Given the description of an element on the screen output the (x, y) to click on. 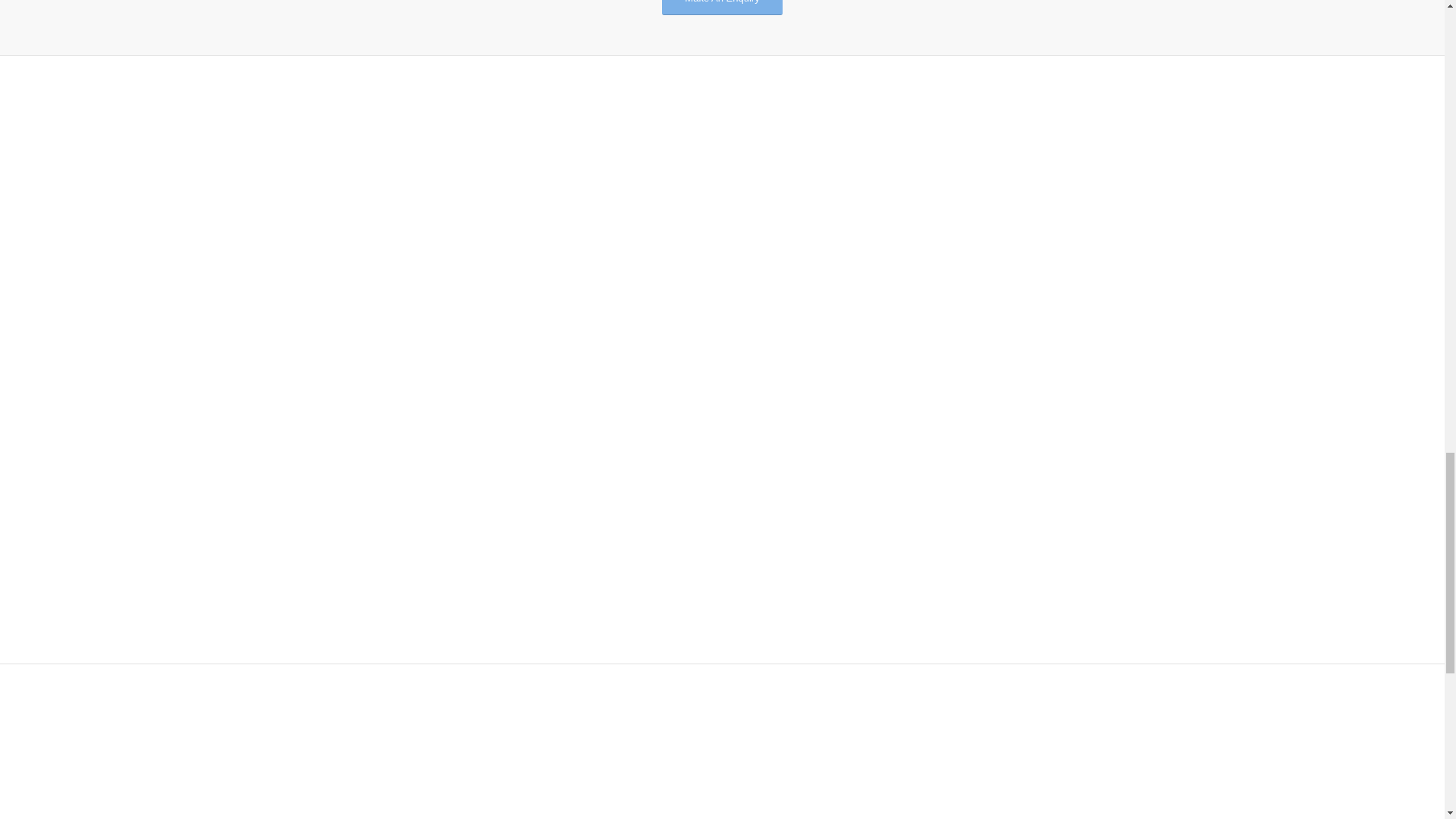
Make An Enquiry (721, 7)
